Given the description of an element on the screen output the (x, y) to click on. 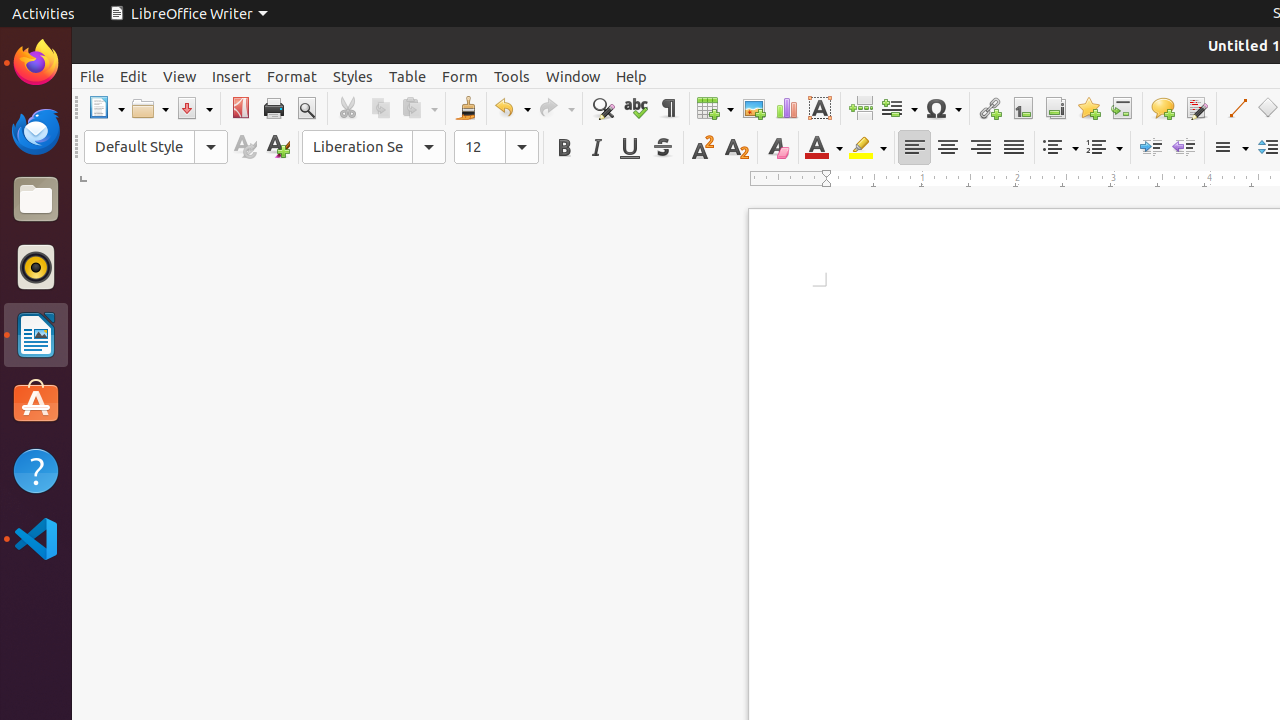
Field Element type: push-button (899, 108)
Paragraph Style Element type: combo-box (156, 147)
Bookmark Element type: push-button (1088, 108)
Center Element type: toggle-button (947, 147)
Image Element type: push-button (753, 108)
